Given the description of an element on the screen output the (x, y) to click on. 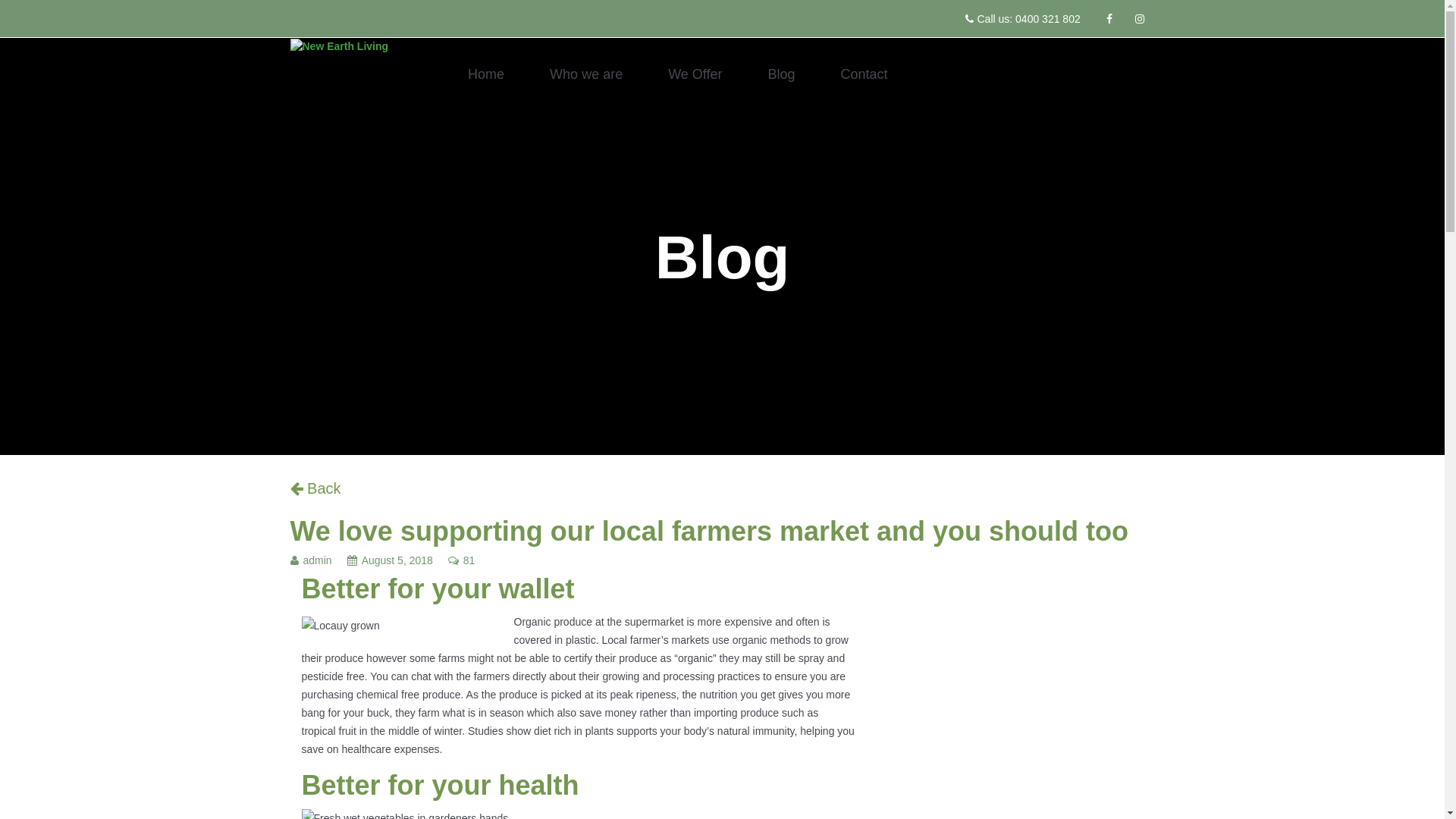
Home Element type: text (485, 74)
admin Element type: text (317, 564)
Back Element type: text (314, 488)
81 Element type: text (469, 564)
Facebook Element type: hover (1108, 18)
0400 321 802 Element type: text (1047, 18)
August 5, 2018 Element type: text (397, 564)
Who we are Element type: text (585, 74)
We Offer Element type: text (694, 74)
Instagram Element type: hover (1138, 18)
Contact Element type: text (864, 74)
Blog Element type: text (781, 74)
